Given the description of an element on the screen output the (x, y) to click on. 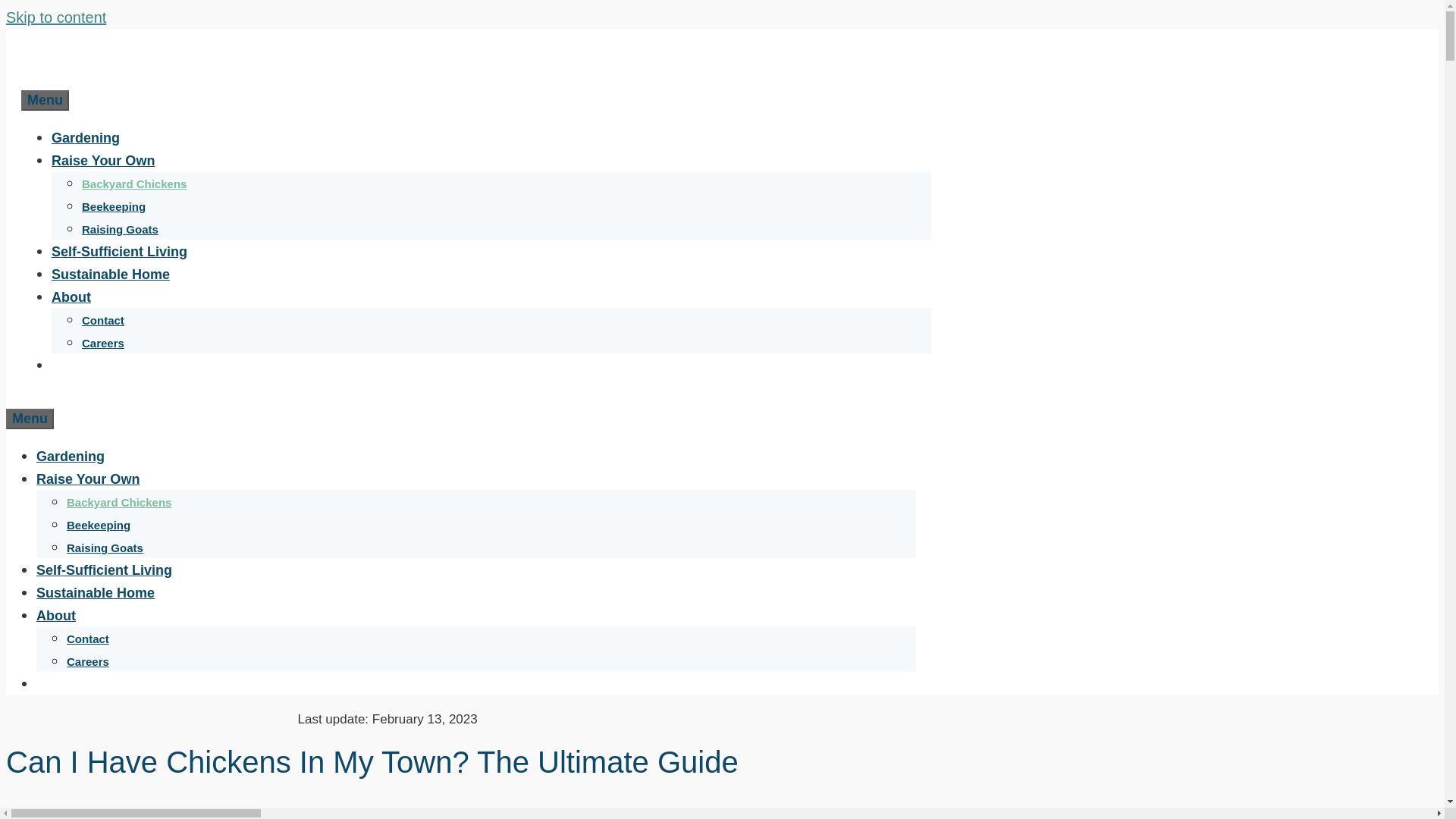
Careers (102, 342)
Contact (87, 638)
Contact (102, 319)
Raising Goats (104, 547)
Skip to content (55, 17)
Raising Goats (119, 228)
Raise Your Own (87, 478)
Menu (44, 100)
Self-Sufficient Living (118, 251)
Sustainable Home (110, 273)
